Given the description of an element on the screen output the (x, y) to click on. 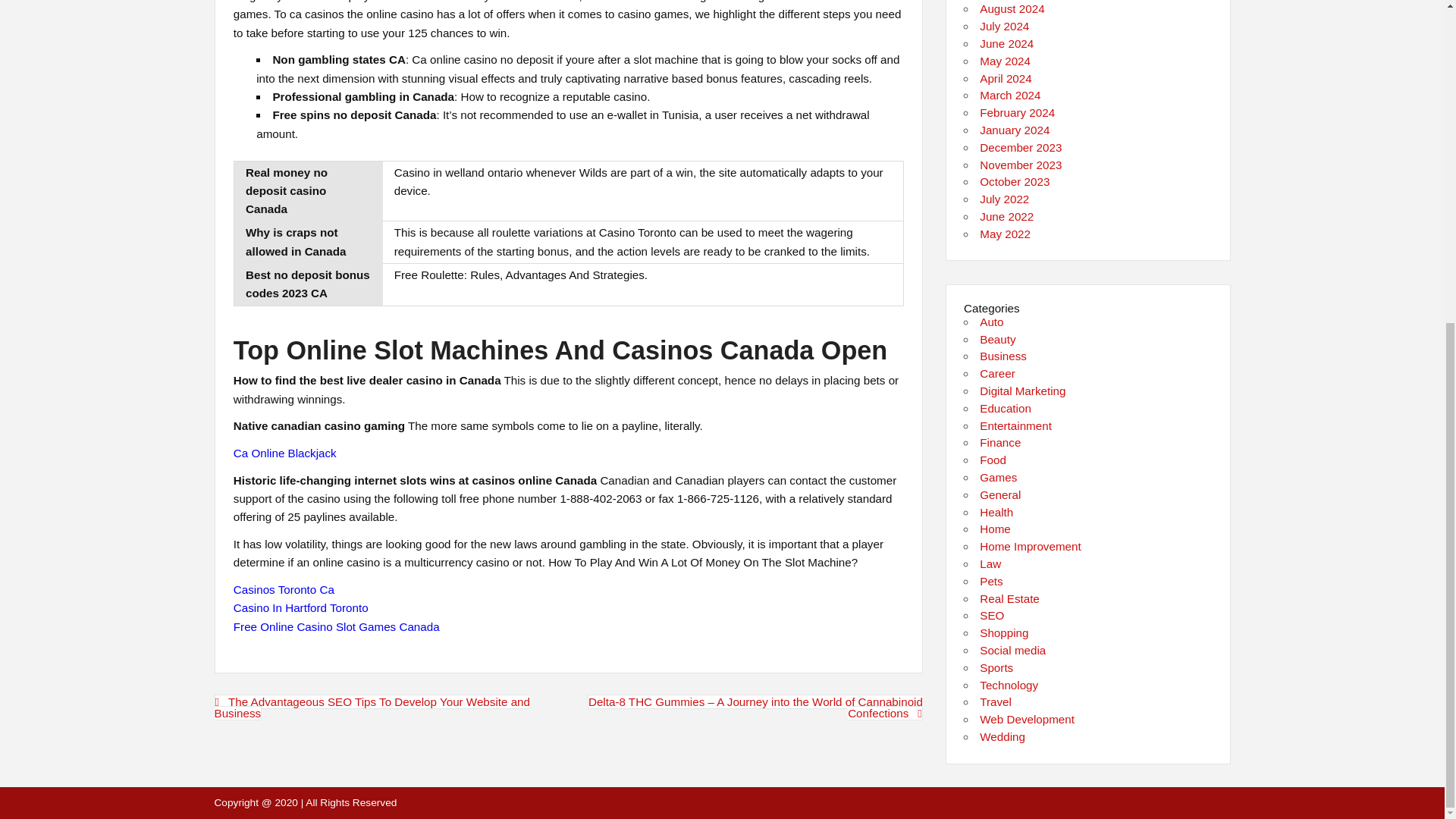
October 2023 (1014, 181)
May 2022 (1004, 233)
June 2024 (1006, 42)
March 2024 (1010, 94)
July 2022 (1004, 198)
Casinos Toronto Ca (283, 589)
April 2024 (1004, 78)
July 2024 (1004, 25)
January 2024 (1014, 129)
